Given the description of an element on the screen output the (x, y) to click on. 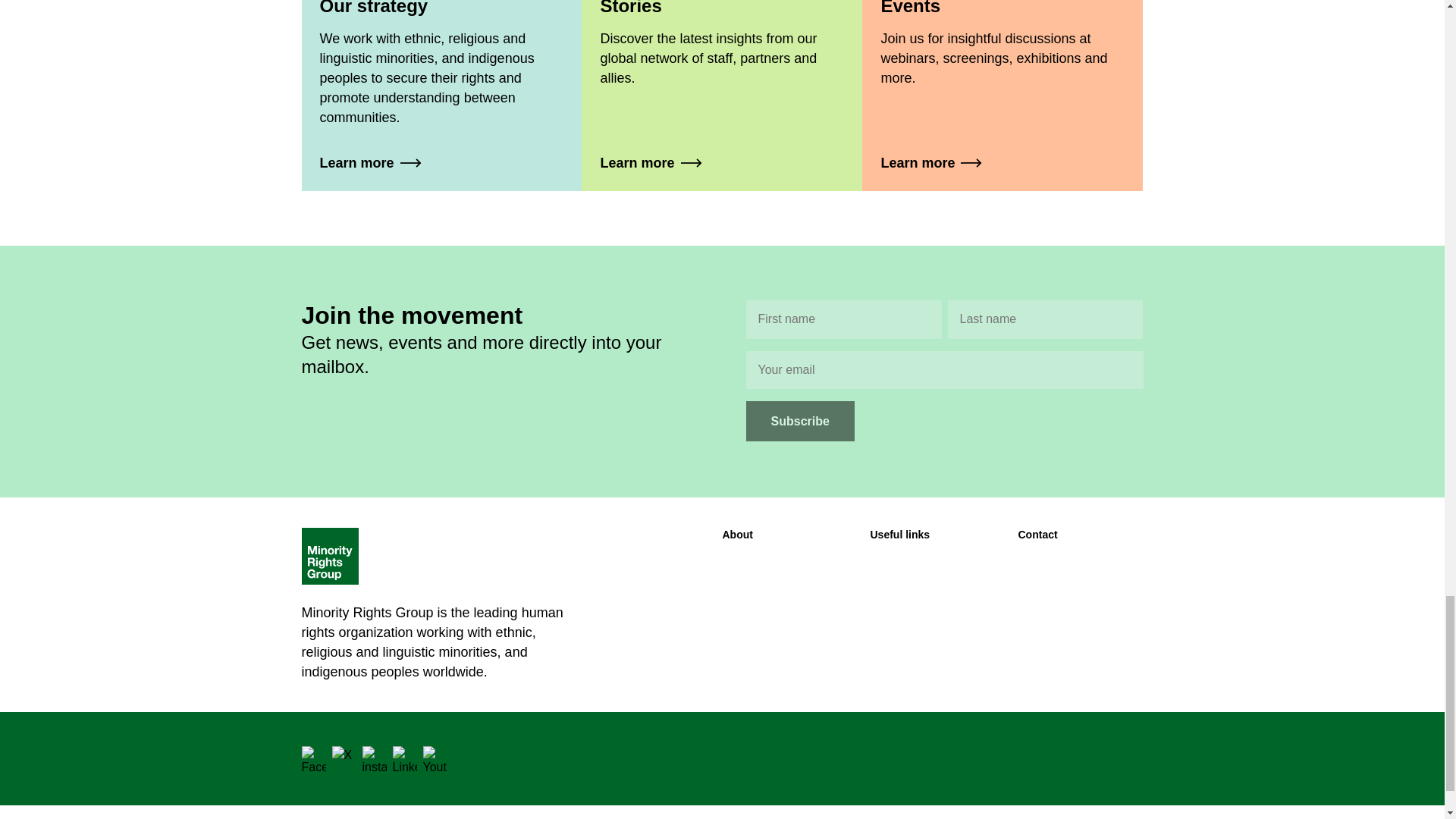
Follow the MRG on Facebook (313, 758)
Follow the MRG on X (343, 758)
Follow the MRG on Linkedin (404, 758)
Follow the MRG on instagram (374, 758)
